Given the description of an element on the screen output the (x, y) to click on. 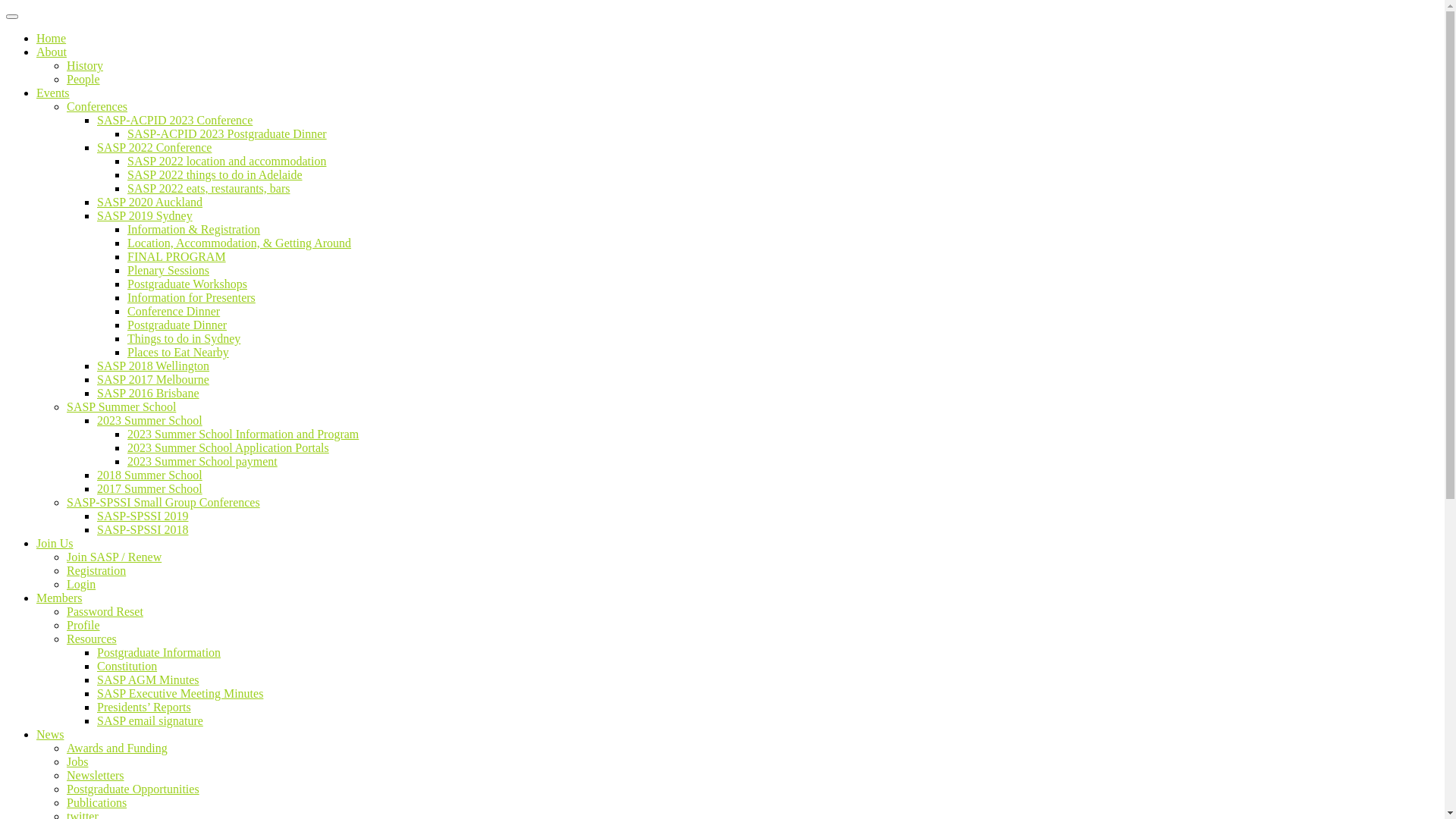
Join SASP / Renew Element type: text (113, 556)
Profile Element type: text (83, 624)
Information for Presenters Element type: text (191, 297)
SASP-ACPID 2023 Conference Element type: text (174, 119)
SASP-ACPID 2023 Postgraduate Dinner Element type: text (226, 133)
SASP 2017 Melbourne Element type: text (153, 379)
Login Element type: text (80, 583)
Home Element type: text (50, 37)
Jobs Element type: text (76, 761)
About Element type: text (51, 51)
SASP 2019 Sydney Element type: text (144, 215)
SASP 2022 eats, restaurants, bars Element type: text (208, 188)
2017 Summer School Element type: text (149, 488)
Events Element type: text (52, 92)
Plenary Sessions Element type: text (168, 269)
Location, Accommodation, & Getting Around Element type: text (239, 242)
SASP-SPSSI 2018 Element type: text (142, 529)
Password Reset Element type: text (104, 611)
Things to do in Sydney Element type: text (183, 338)
Join Us Element type: text (54, 542)
People Element type: text (83, 78)
SASP Summer School Element type: text (120, 406)
FINAL PROGRAM Element type: text (176, 256)
2018 Summer School Element type: text (149, 474)
Postgraduate Dinner Element type: text (176, 324)
2023 Summer School Element type: text (149, 420)
SASP-SPSSI Small Group Conferences Element type: text (163, 501)
2023 Summer School Application Portals Element type: text (228, 447)
History Element type: text (84, 65)
SASP 2018 Wellington Element type: text (153, 365)
2023 Summer School payment Element type: text (202, 461)
2023 Summer School Information and Program Element type: text (242, 433)
SASP-SPSSI 2019 Element type: text (142, 515)
Publications Element type: text (96, 802)
Information & Registration Element type: text (193, 228)
Awards and Funding Element type: text (116, 747)
SASP 2016 Brisbane Element type: text (148, 392)
Postgraduate Opportunities Element type: text (132, 788)
SASP 2022 Conference Element type: text (154, 147)
Constitution Element type: text (126, 665)
Postgraduate Information Element type: text (158, 652)
SASP 2020 Auckland Element type: text (149, 201)
SASP AGM Minutes Element type: text (148, 679)
Skip to content Element type: text (5, 5)
SASP Executive Meeting Minutes Element type: text (180, 693)
SASP email signature Element type: text (150, 720)
SASP 2022 location and accommodation Element type: text (226, 160)
Registration Element type: text (95, 570)
Postgraduate Workshops Element type: text (187, 283)
Resources Element type: text (91, 638)
Newsletters Element type: text (95, 774)
Conferences Element type: text (96, 106)
Members Element type: text (58, 597)
Conference Dinner Element type: text (173, 310)
SASP 2022 things to do in Adelaide Element type: text (214, 174)
Places to Eat Nearby Element type: text (178, 351)
News Element type: text (49, 734)
